Given the description of an element on the screen output the (x, y) to click on. 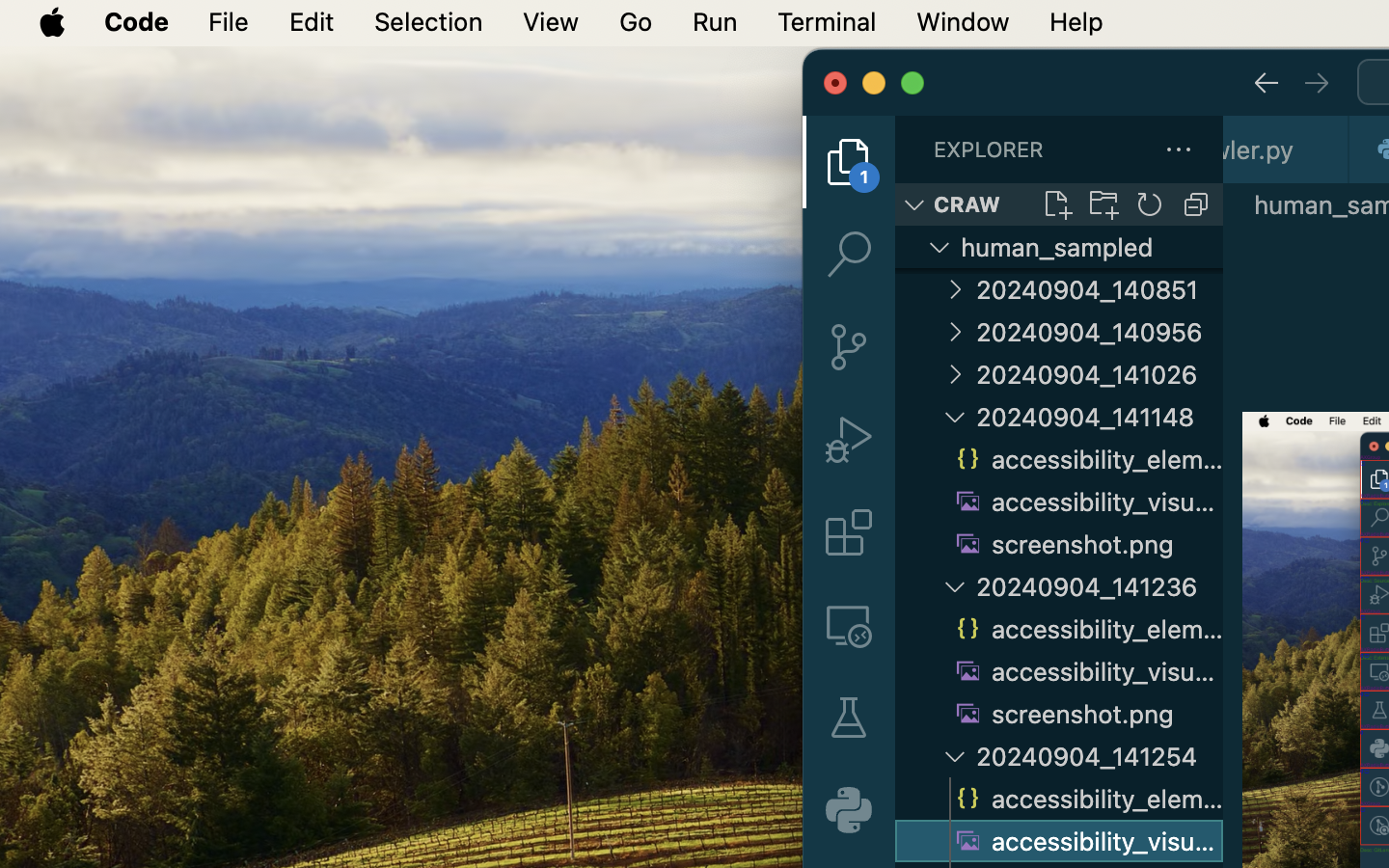
 Element type: AXButton (1316, 82)
accessibility_elements.json  Element type: AXGroup (1086, 458)
0  Element type: AXRadioButton (848, 624)
 Element type: AXGroup (848, 161)
20240904_141254 Element type: AXGroup (1099, 755)
